Given the description of an element on the screen output the (x, y) to click on. 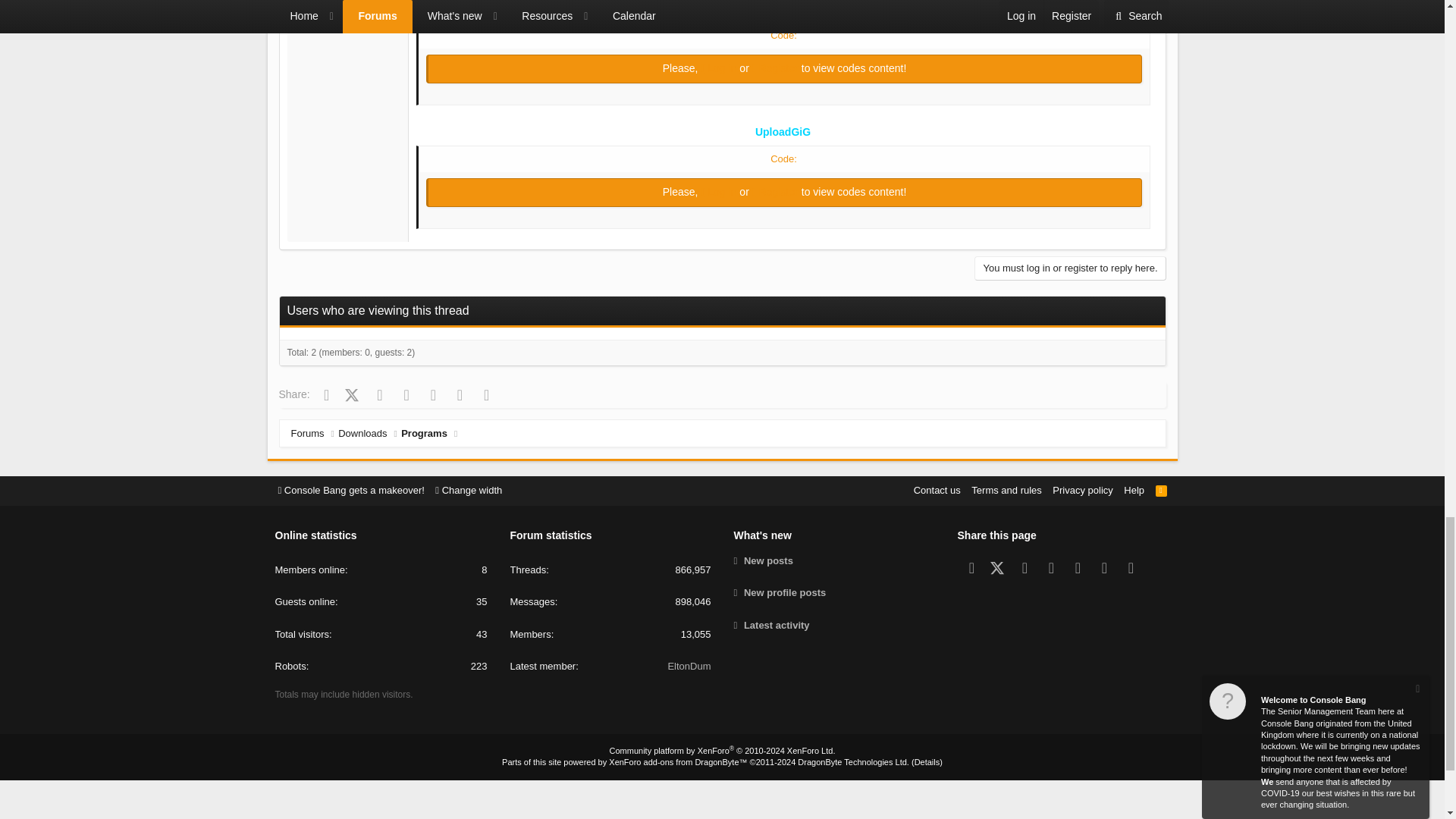
RSS (1161, 490)
Style chooser (350, 490)
